Given the description of an element on the screen output the (x, y) to click on. 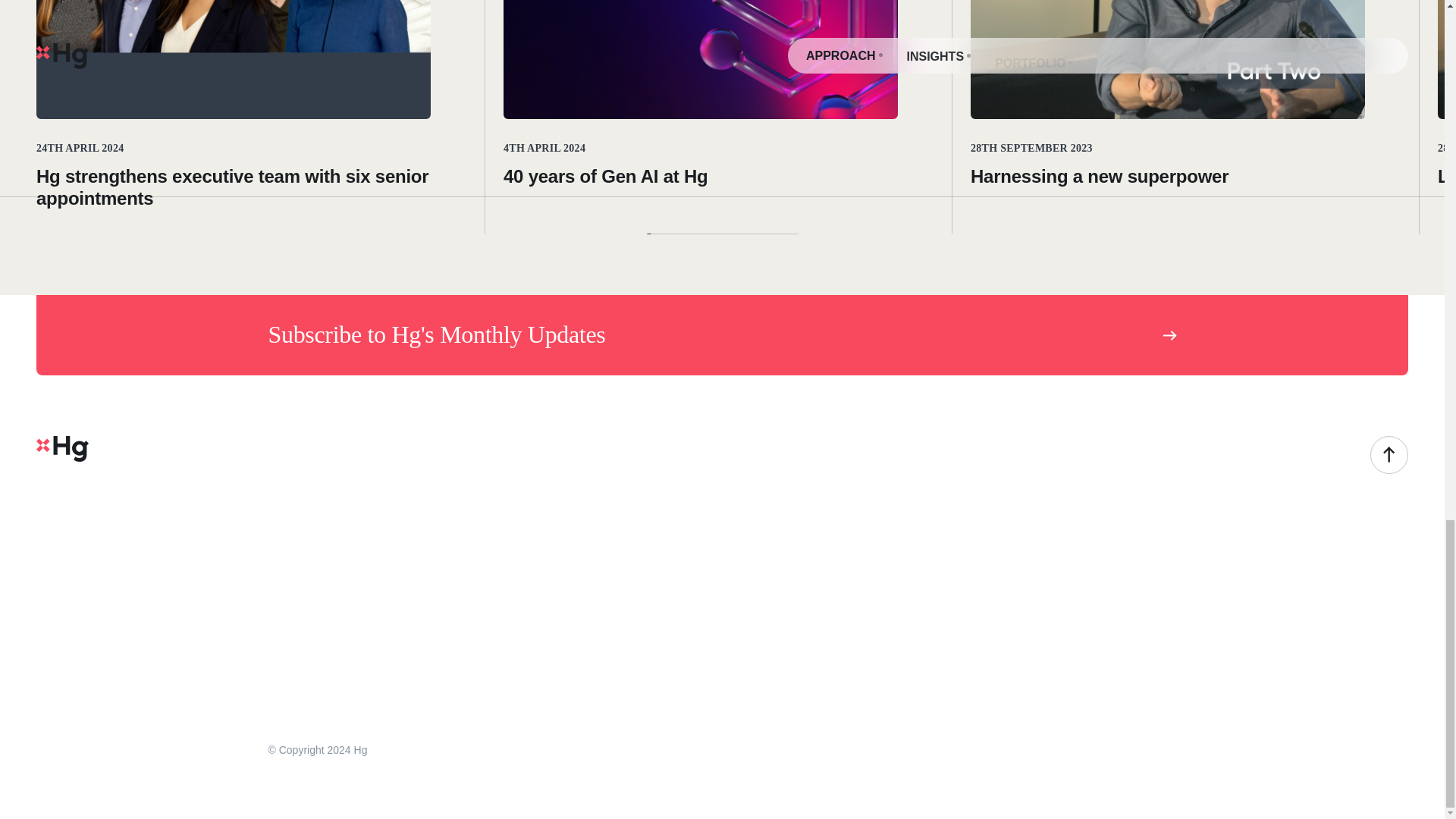
Subscribe to Hg's Monthly Updates (721, 334)
